Given the description of an element on the screen output the (x, y) to click on. 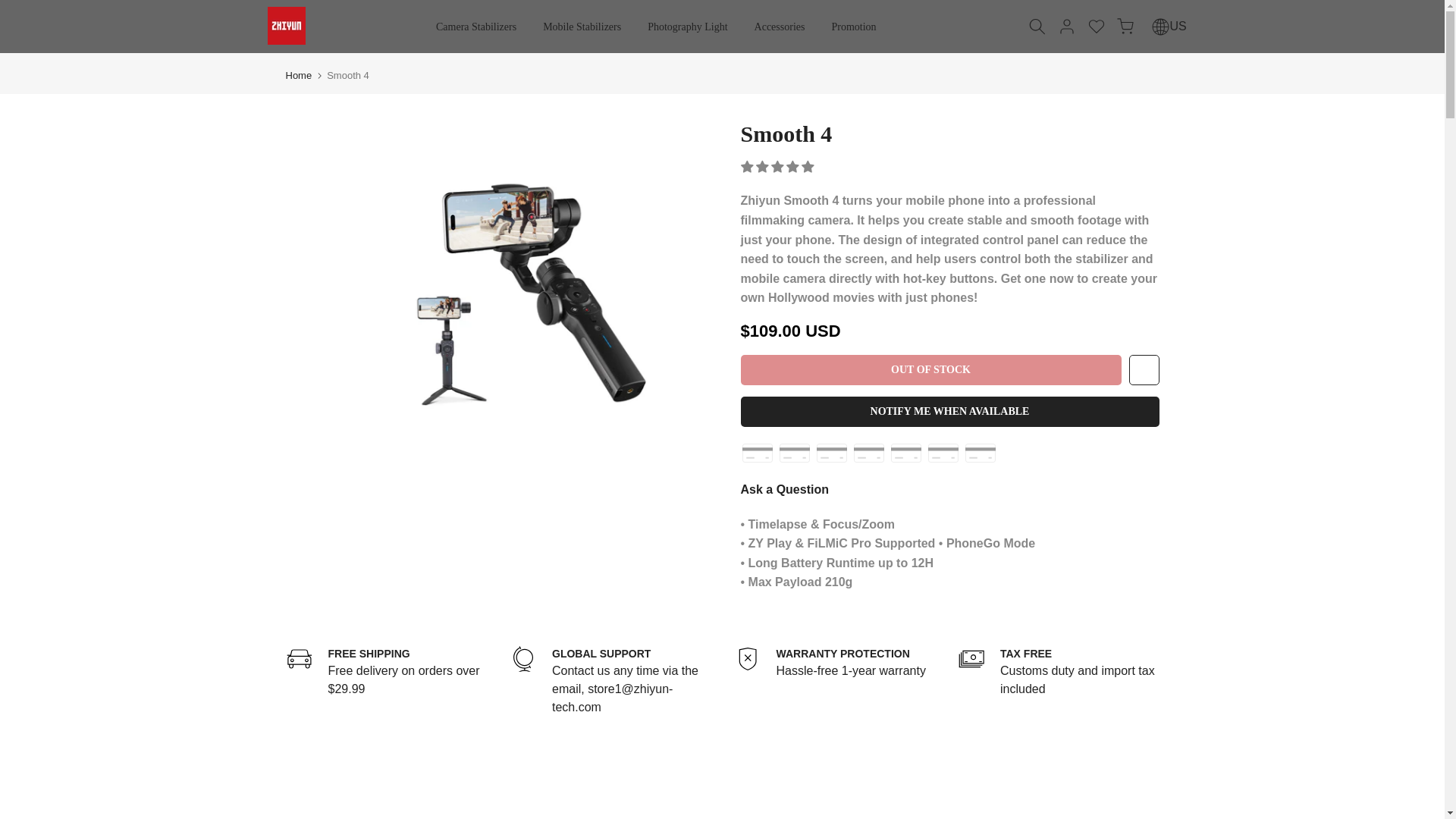
Skip to content (1058, 669)
Camera Stabilizers (10, 7)
Accessories (476, 27)
NOTIFY ME WHEN AVAILABLE (779, 27)
Ask a Question (834, 669)
Mobile Stabilizers (948, 411)
OUT OF STOCK (940, 489)
Home (581, 27)
Photography Light (930, 369)
Promotion (298, 75)
